Given the description of an element on the screen output the (x, y) to click on. 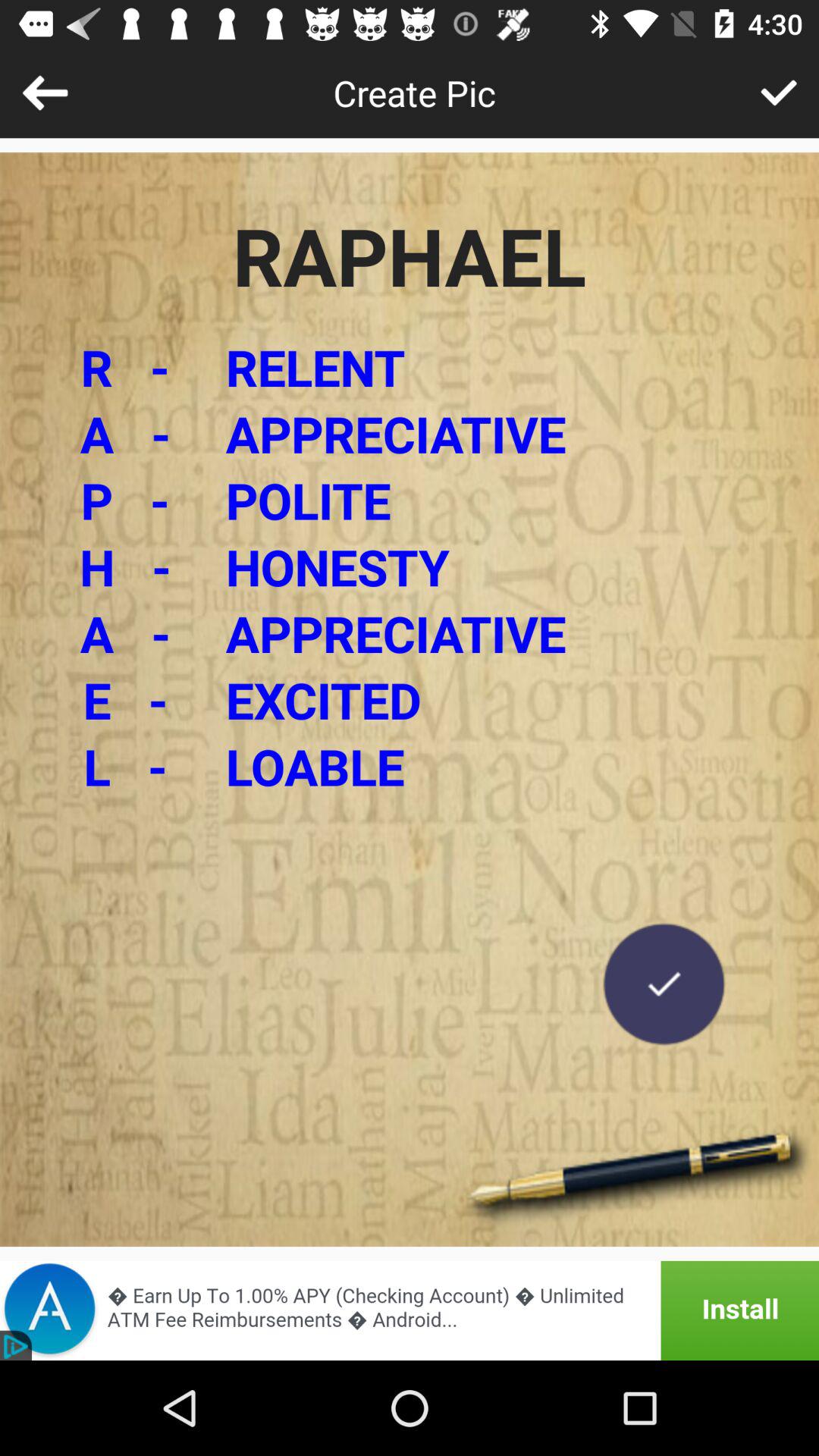
go back (45, 92)
